Given the description of an element on the screen output the (x, y) to click on. 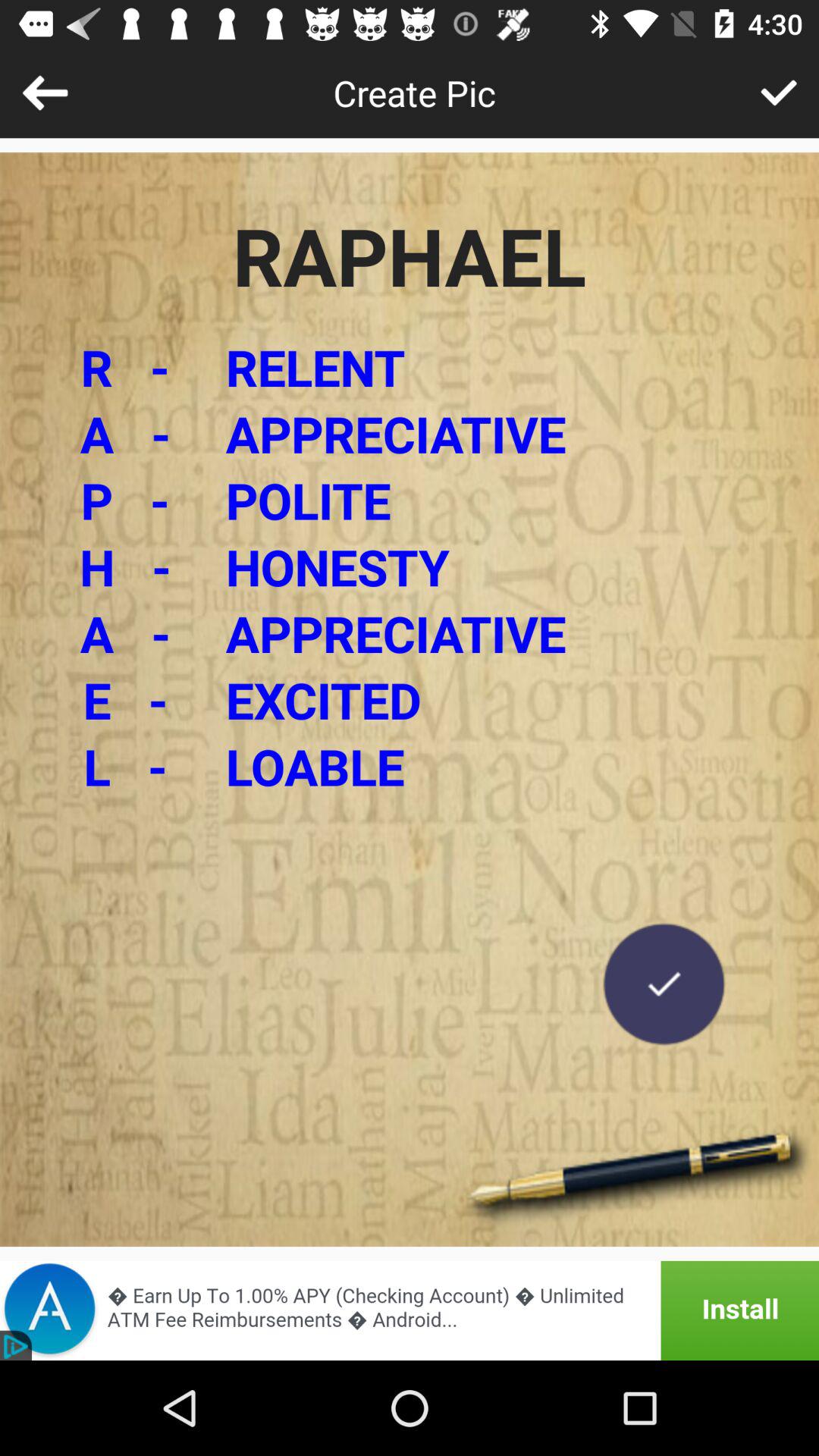
go back (45, 92)
